Given the description of an element on the screen output the (x, y) to click on. 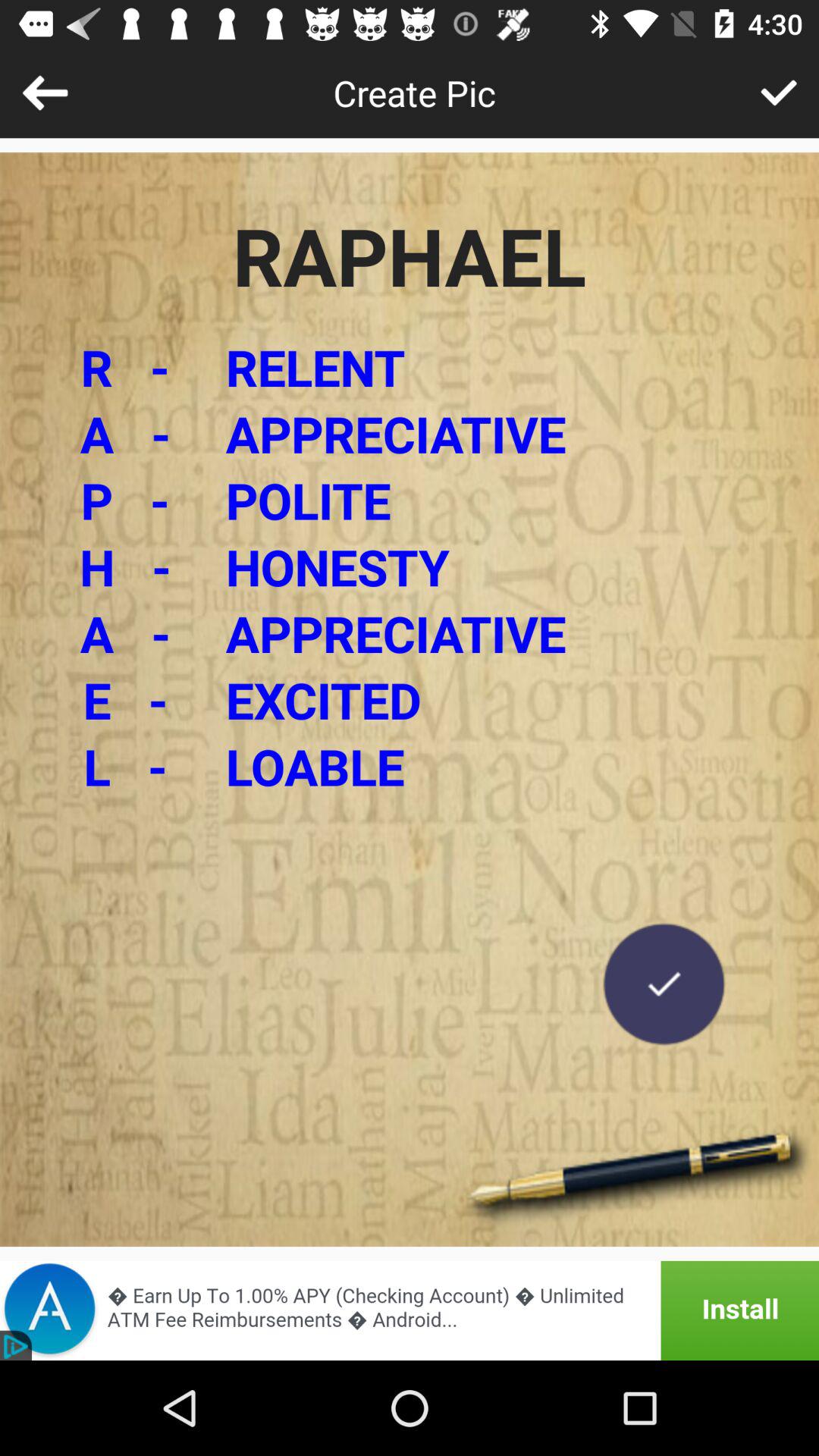
go back (45, 92)
